Given the description of an element on the screen output the (x, y) to click on. 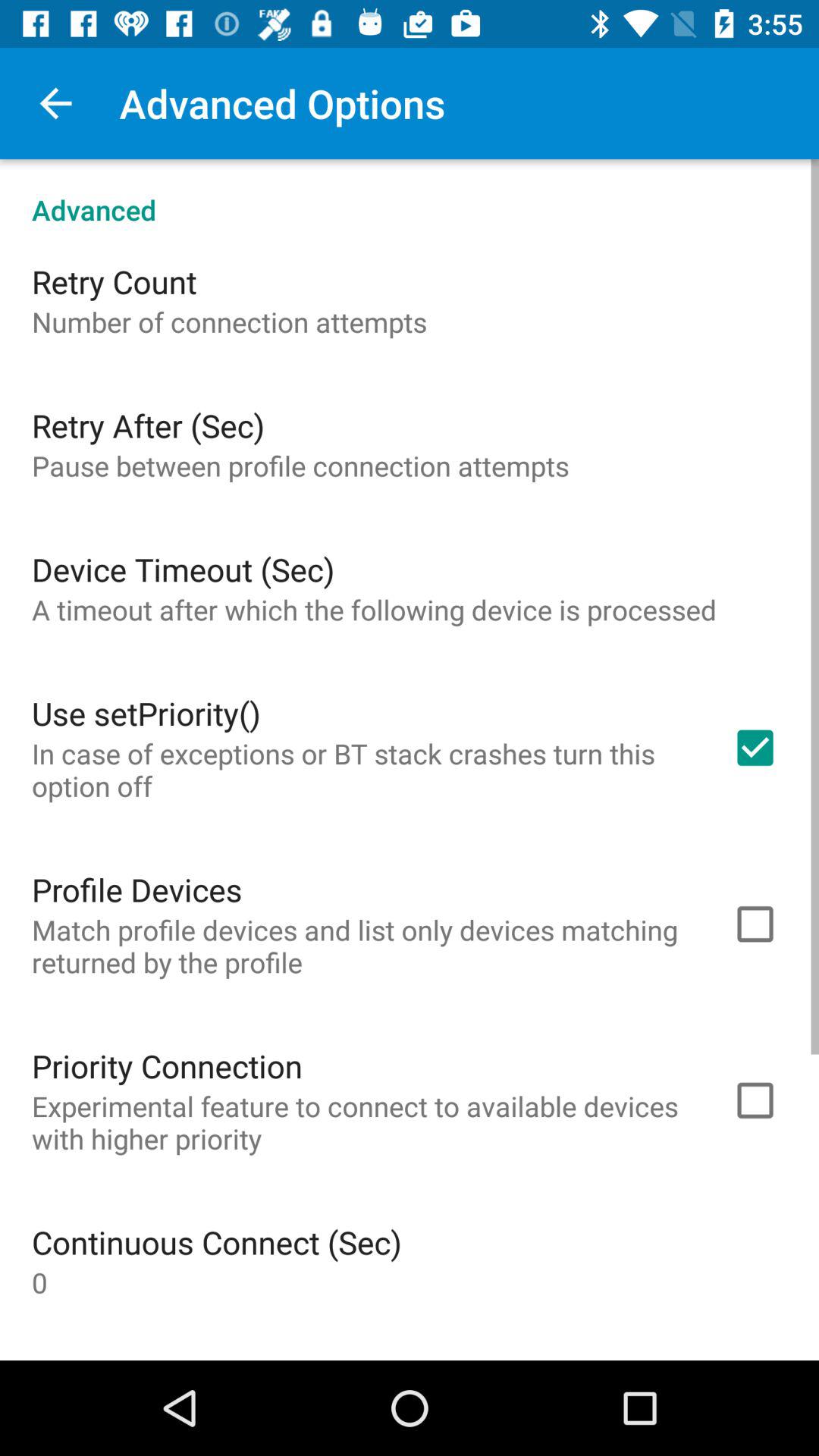
open in case of icon (361, 769)
